Given the description of an element on the screen output the (x, y) to click on. 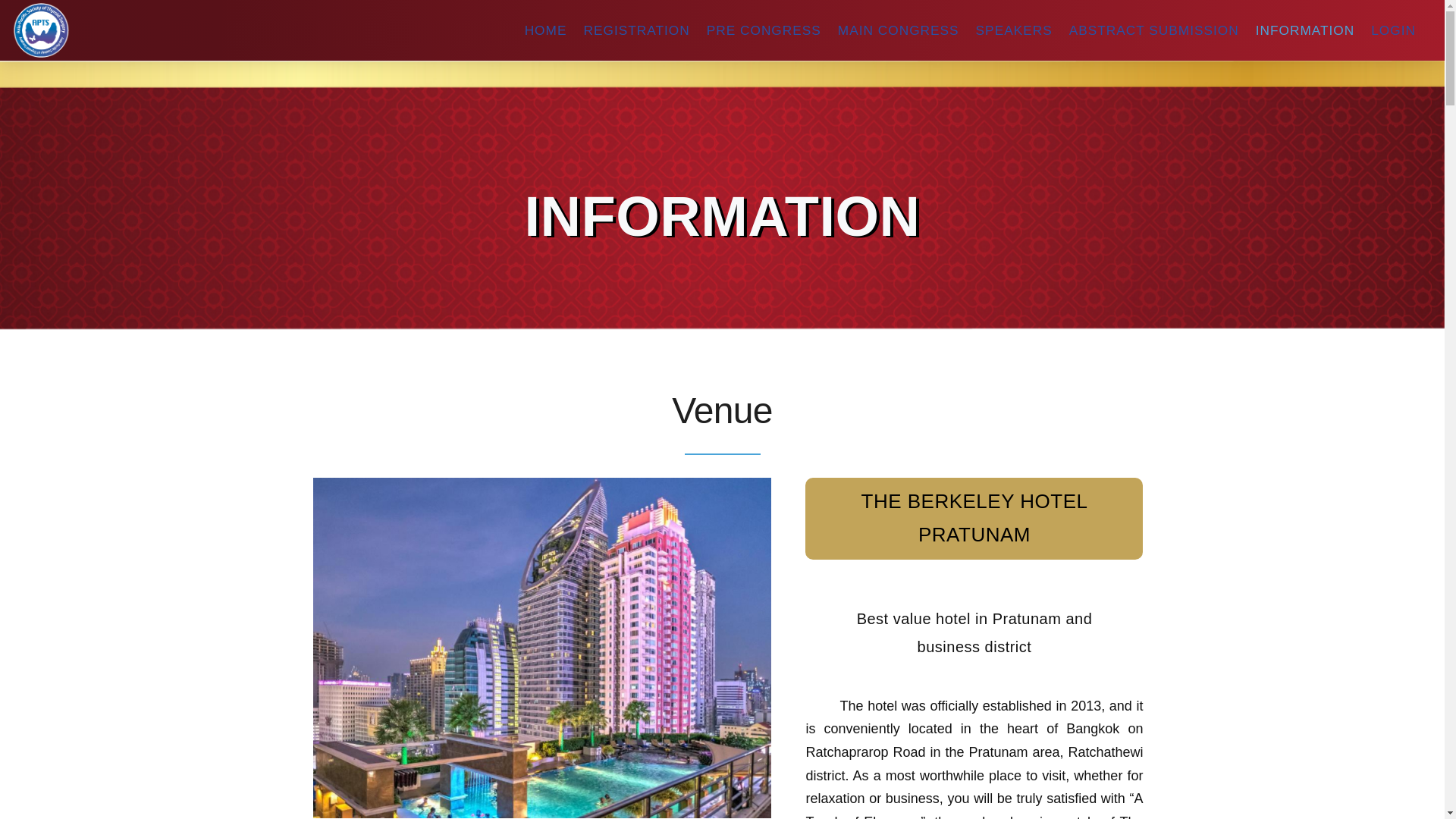
MAIN CONGRESS (898, 30)
REGISTRATION (635, 30)
HOME (545, 30)
ABSTRACT SUBMISSION (1153, 30)
LOGIN (1393, 30)
PRE CONGRESS (763, 30)
INFORMATION (1305, 30)
SPEAKERS (1013, 30)
